Given the description of an element on the screen output the (x, y) to click on. 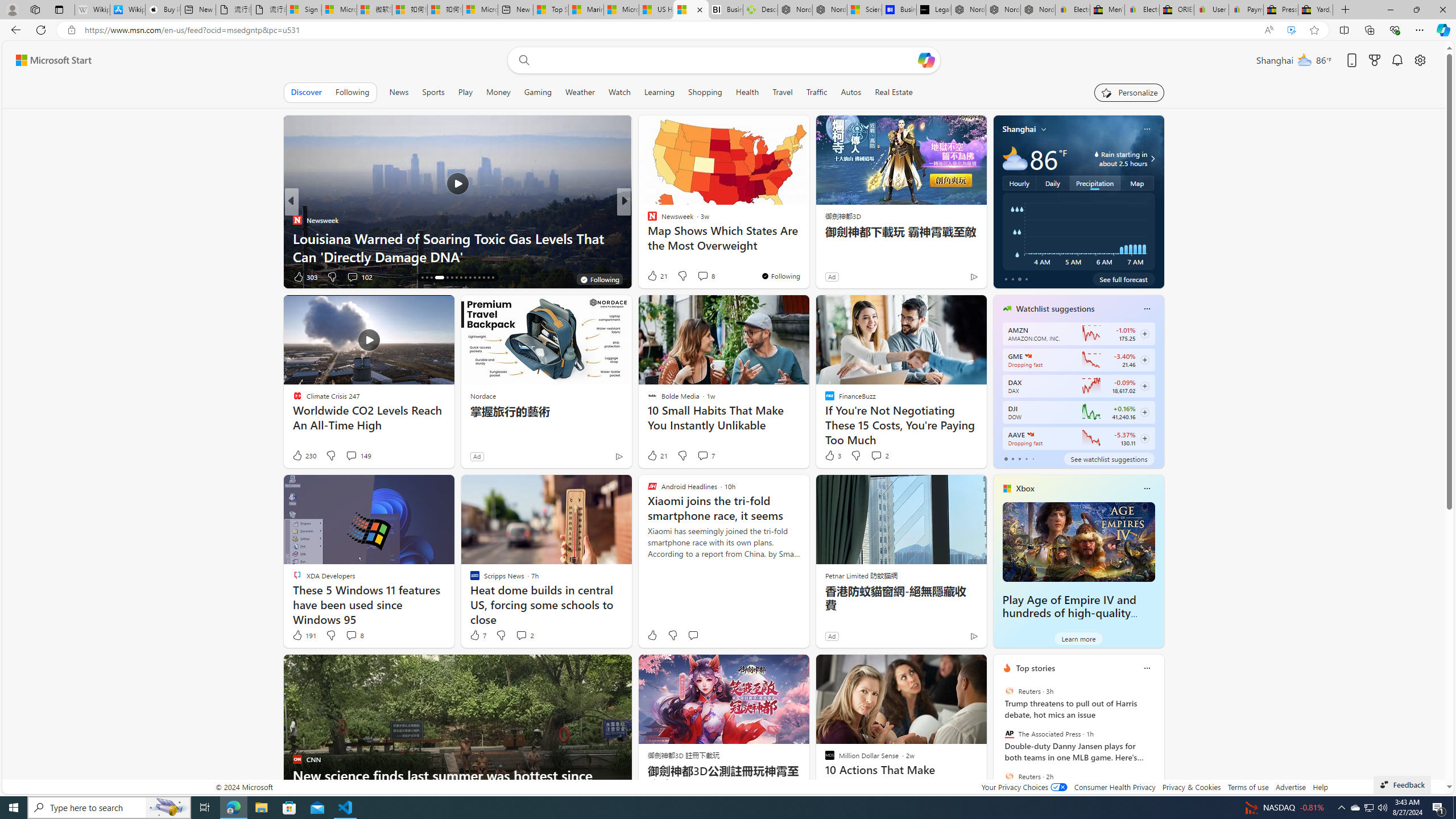
How to Clean a Bathroom from Top to Bottom (807, 256)
View comments 31 Comment (704, 276)
230 Like (303, 455)
611 Like (654, 276)
View comments 2 Comment (521, 635)
